Given the description of an element on the screen output the (x, y) to click on. 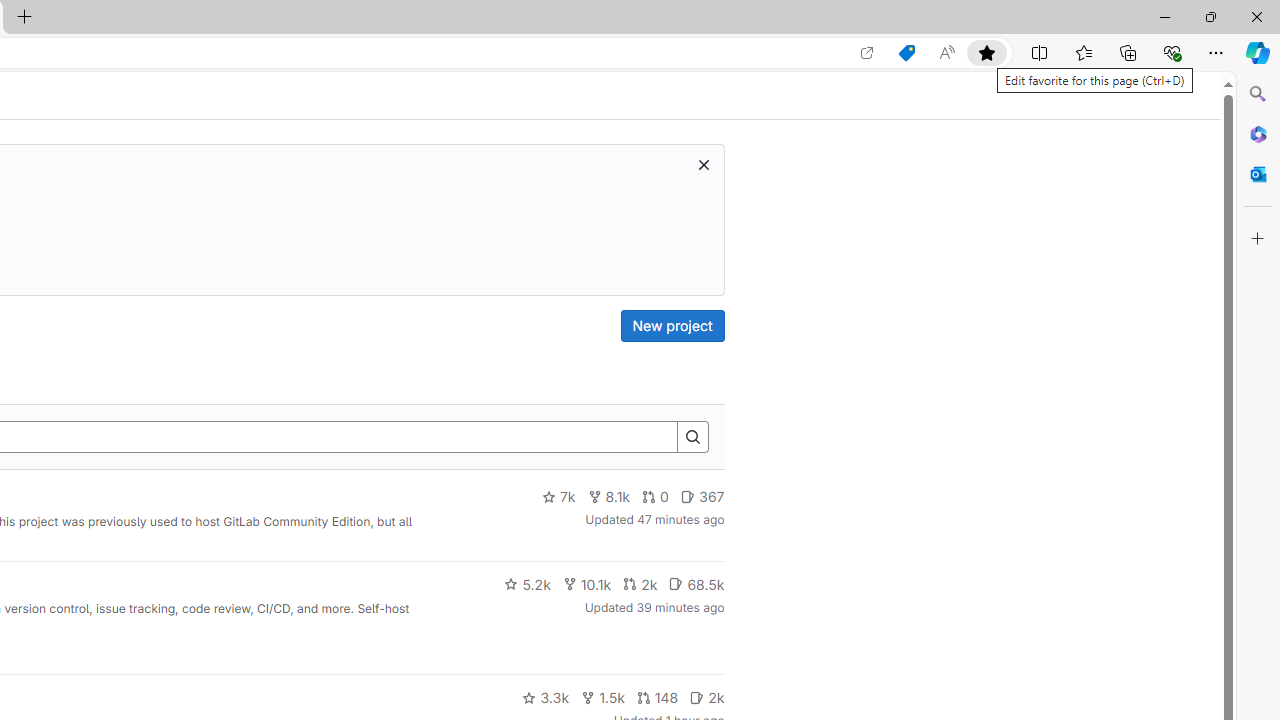
5.2k (527, 583)
0 (655, 497)
3.3k (545, 697)
10.1k (586, 583)
68.5k (696, 583)
1.5k (602, 697)
7k (558, 497)
